Given the description of an element on the screen output the (x, y) to click on. 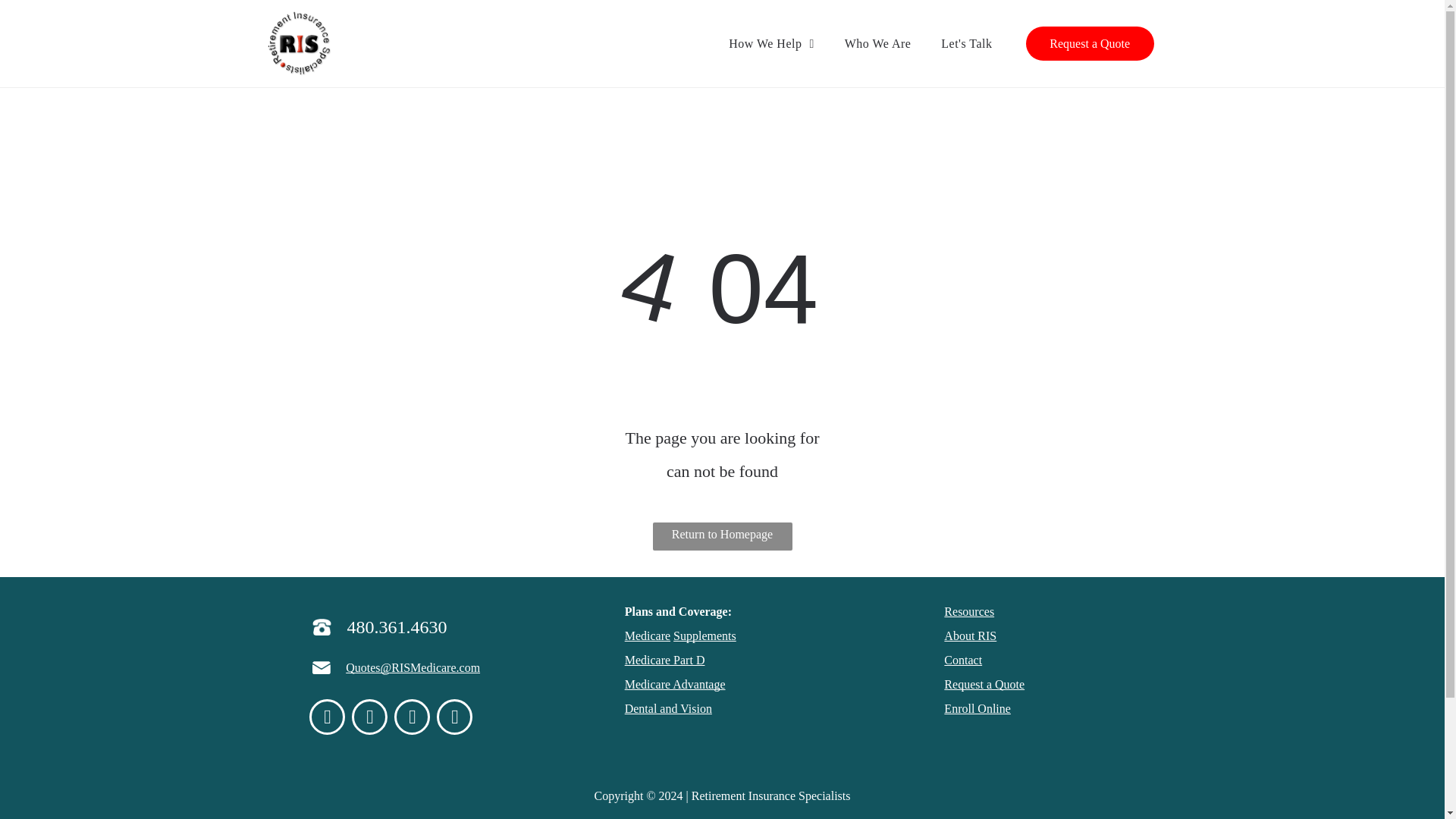
Who We Are (877, 43)
Let's Talk (966, 43)
Medicare Part D (664, 659)
Enroll Online (976, 707)
Contact (962, 659)
Resources (968, 611)
Supplements (704, 635)
Medicare (646, 635)
Return to Homepage (722, 536)
Request a Quote (984, 684)
Medicare Advantage (674, 684)
About RIS (969, 635)
Dental and Vision (667, 707)
Request a Quote (1089, 43)
How We Help (770, 43)
